Given the description of an element on the screen output the (x, y) to click on. 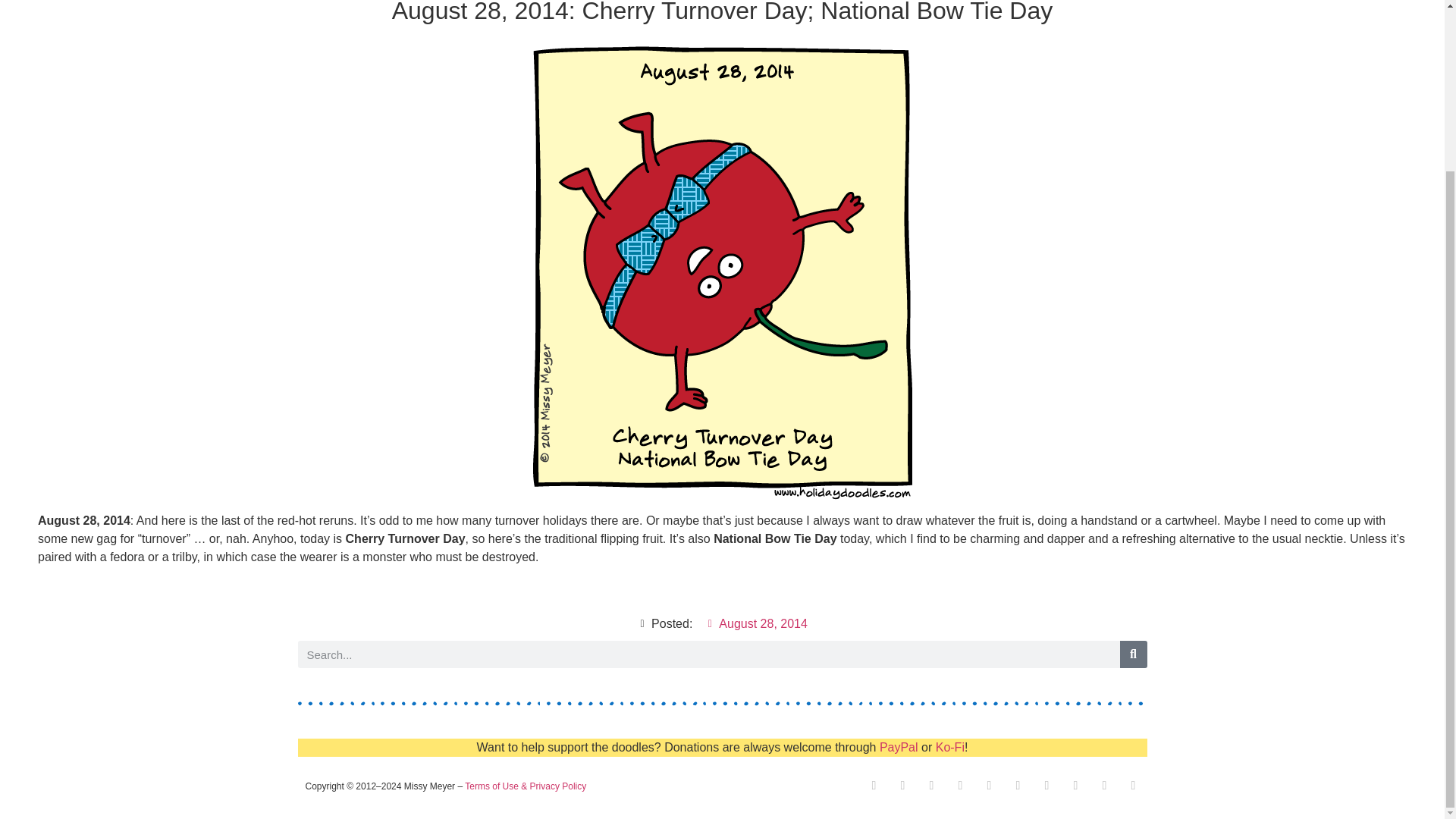
August 28, 2014 (756, 624)
Ko-Fi (949, 747)
PayPal (898, 747)
